Given the description of an element on the screen output the (x, y) to click on. 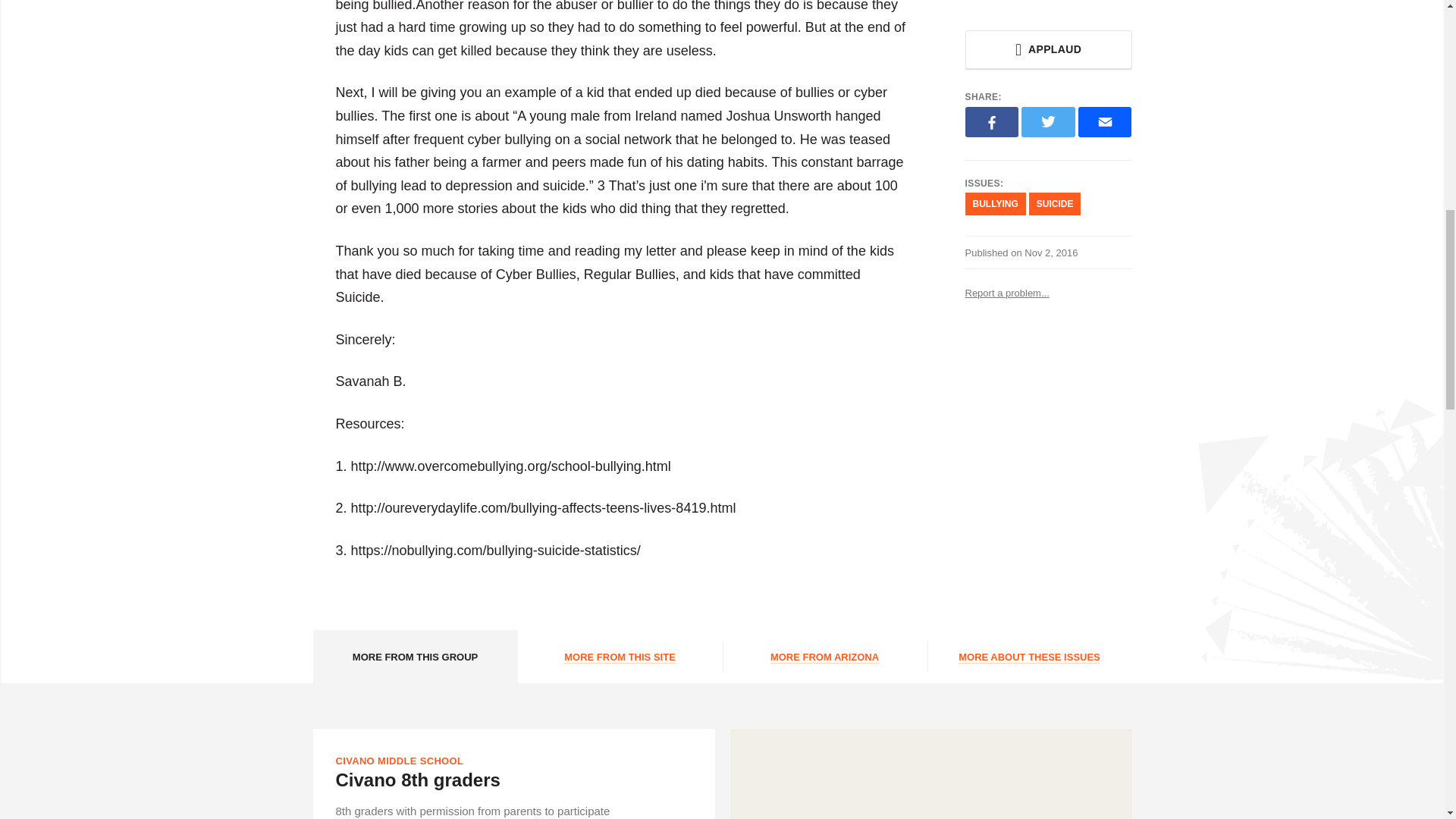
CIVANO MIDDLE SCHOOL (398, 760)
MORE FROM ARIZONA (824, 656)
MORE ABOUT THESE ISSUES (1028, 656)
MORE FROM THIS SITE (619, 656)
MORE FROM THIS GROUP (414, 656)
